Given the description of an element on the screen output the (x, y) to click on. 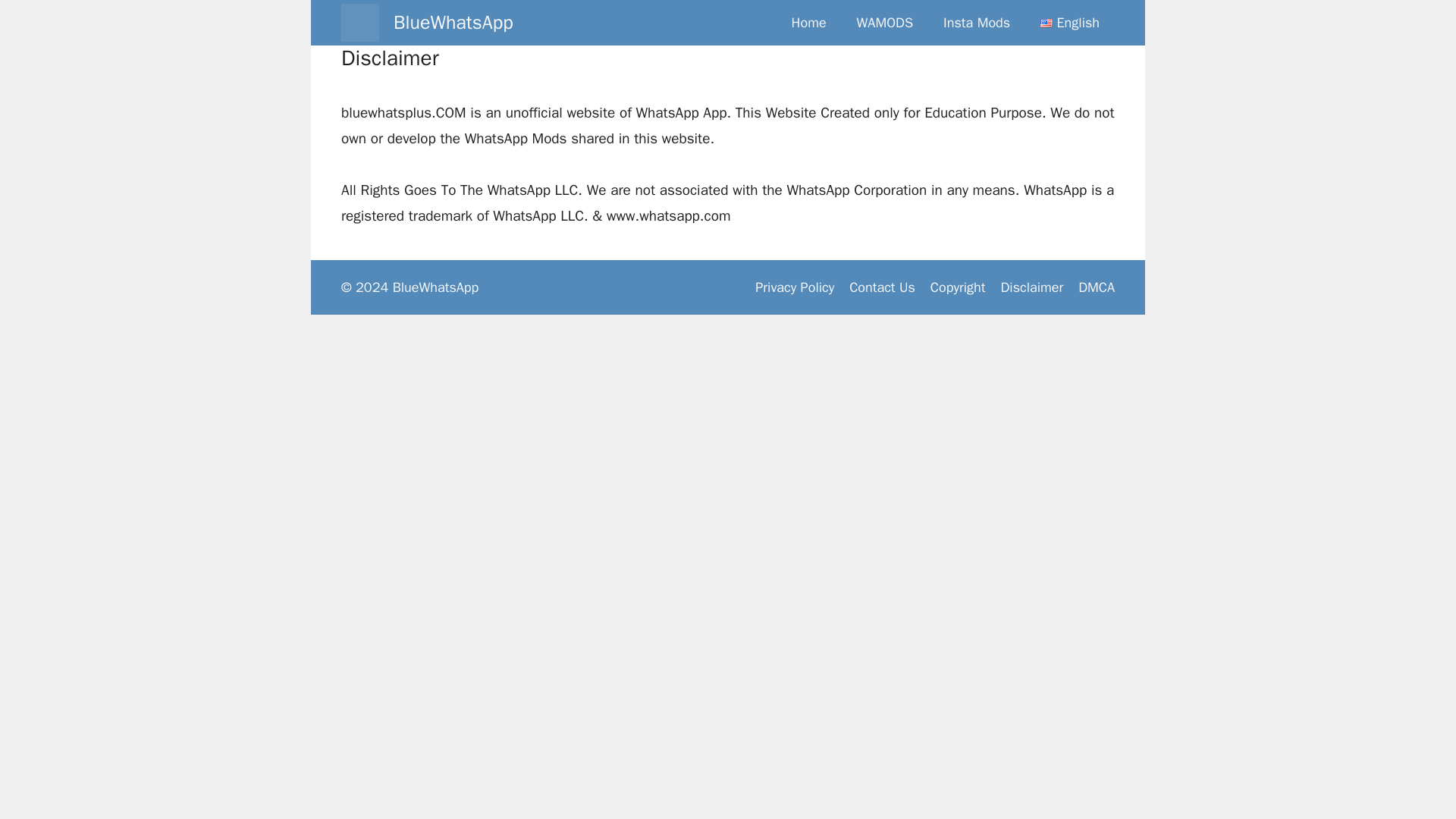
Contact Us (881, 287)
WAMODS (884, 22)
English (1070, 22)
BlueWhatsApp (453, 22)
DMCA (1096, 287)
Disclaimer (1031, 287)
Home (808, 22)
Privacy Policy (794, 287)
Copyright (957, 287)
Insta Mods (976, 22)
